Given the description of an element on the screen output the (x, y) to click on. 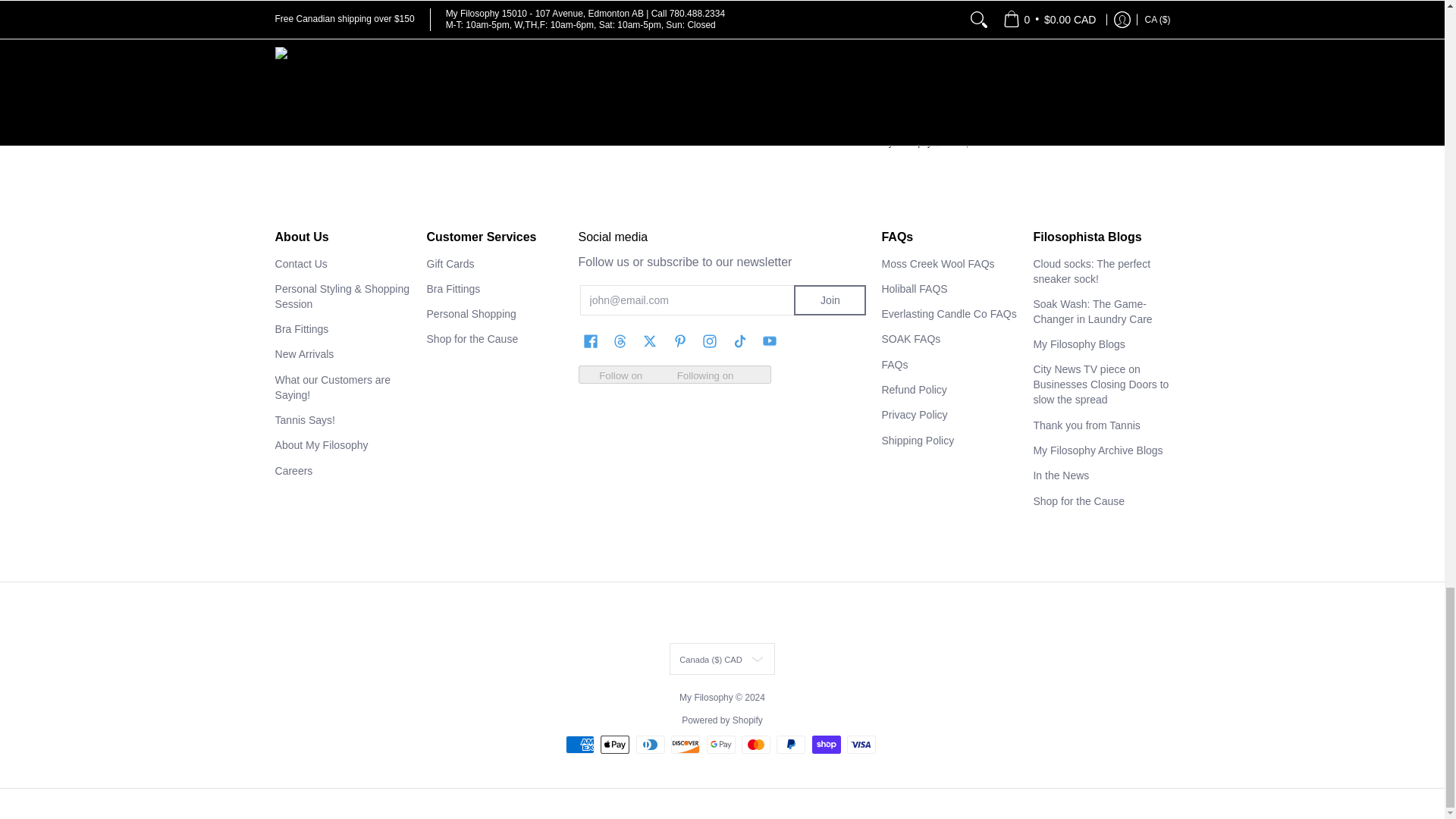
Diners Club (650, 744)
Apple Pay (613, 744)
American Express (580, 744)
Discover (685, 744)
